Given the description of an element on the screen output the (x, y) to click on. 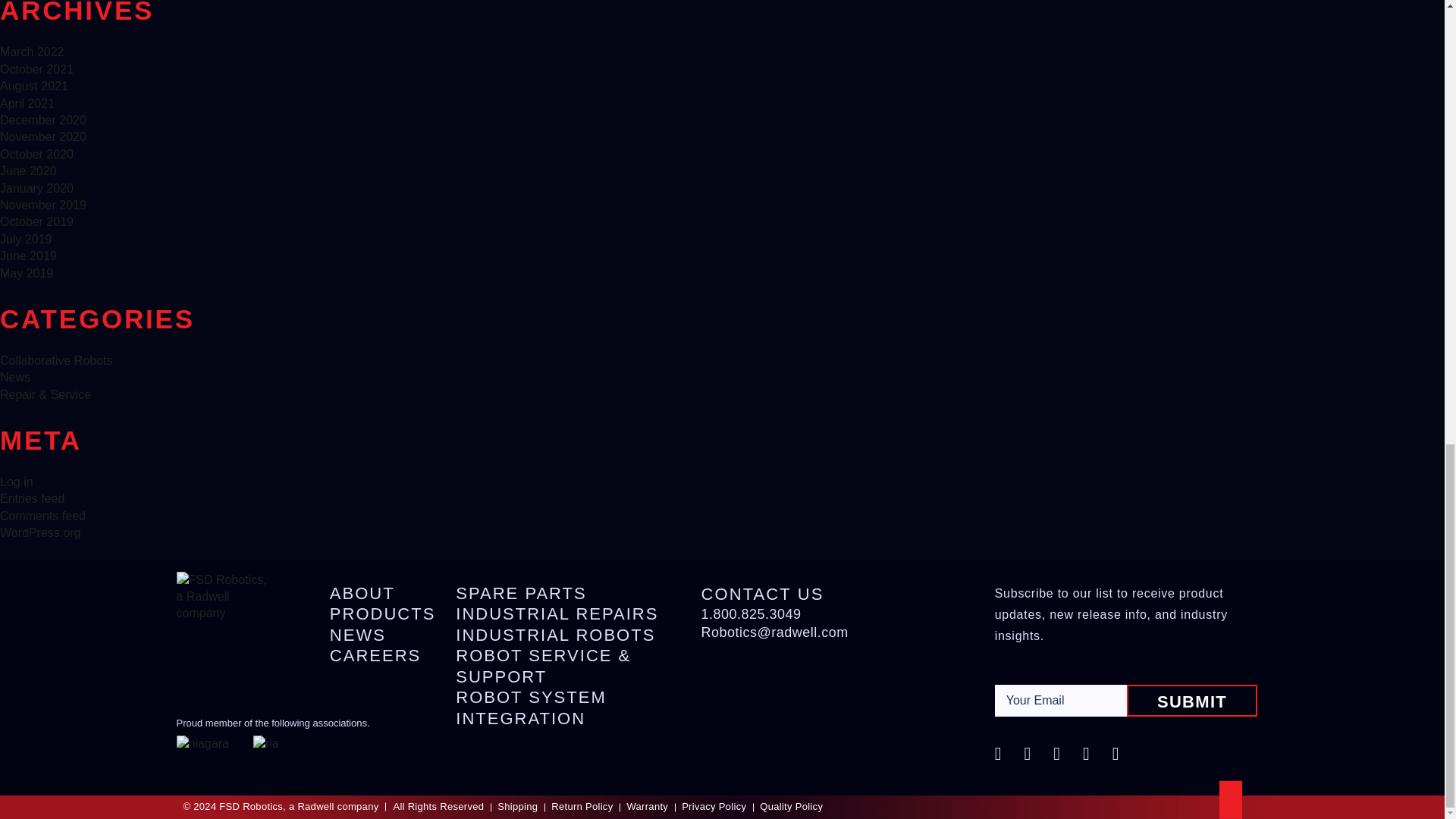
FSD Robotics, a Radwell company (221, 593)
Submit (1191, 700)
Call Us (750, 613)
April 2021 (27, 103)
December 2020 (42, 119)
August 2021 (34, 85)
October 2020 (37, 154)
March 2022 (32, 51)
November 2020 (42, 136)
October 2021 (37, 69)
June 2020 (28, 170)
Products (382, 613)
